Given the description of an element on the screen output the (x, y) to click on. 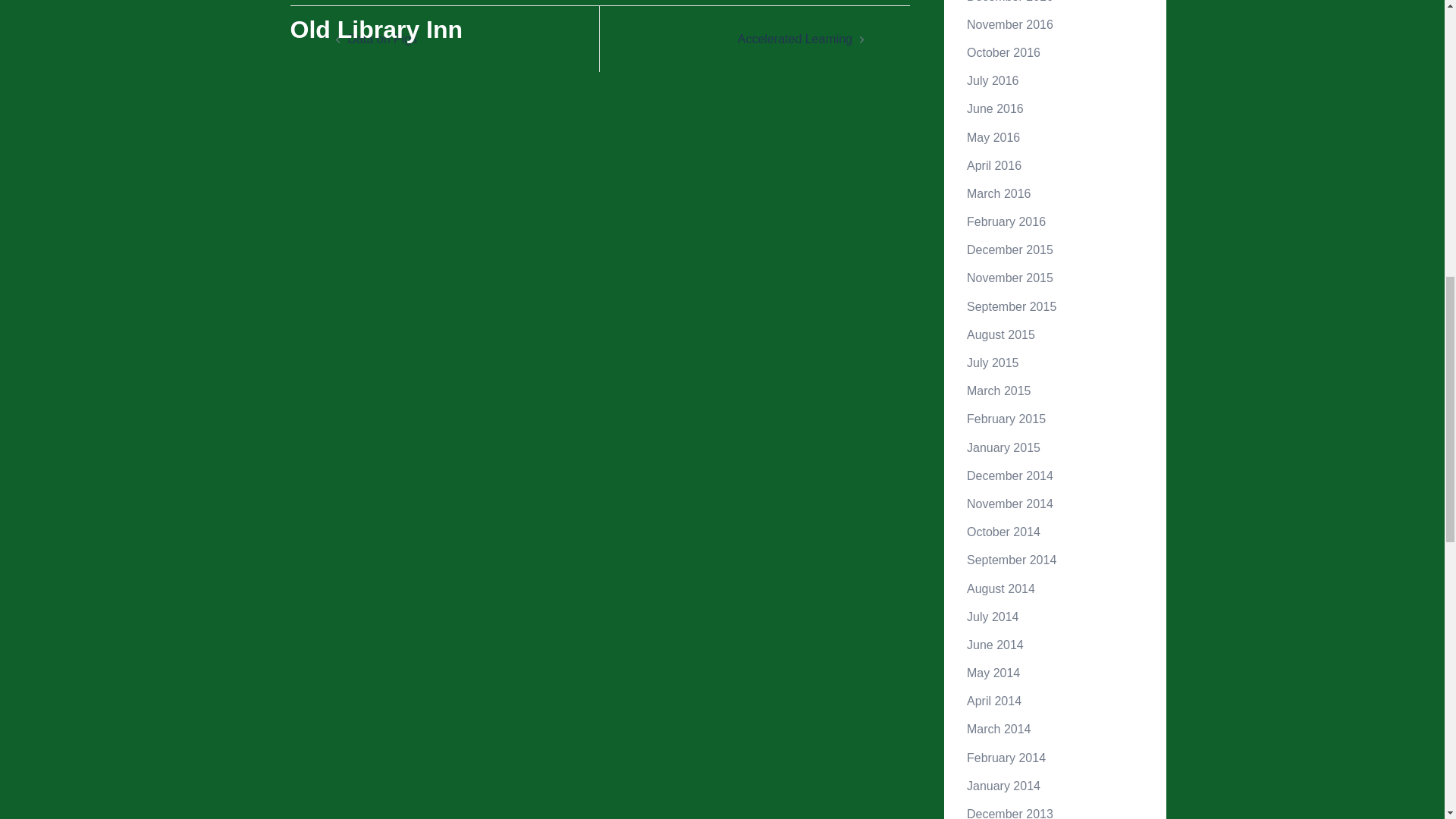
June 2016 (994, 108)
Accelerated Learning (794, 38)
July 2016 (992, 80)
October 2016 (1003, 51)
April 2016 (994, 164)
May 2016 (993, 136)
December 2016 (1009, 1)
February 2016 (1005, 221)
November 2015 (1009, 277)
Data on Pigs (381, 38)
September 2015 (1011, 306)
August 2015 (1000, 334)
December 2015 (1009, 249)
March 2016 (998, 193)
November 2016 (1009, 24)
